Given the description of an element on the screen output the (x, y) to click on. 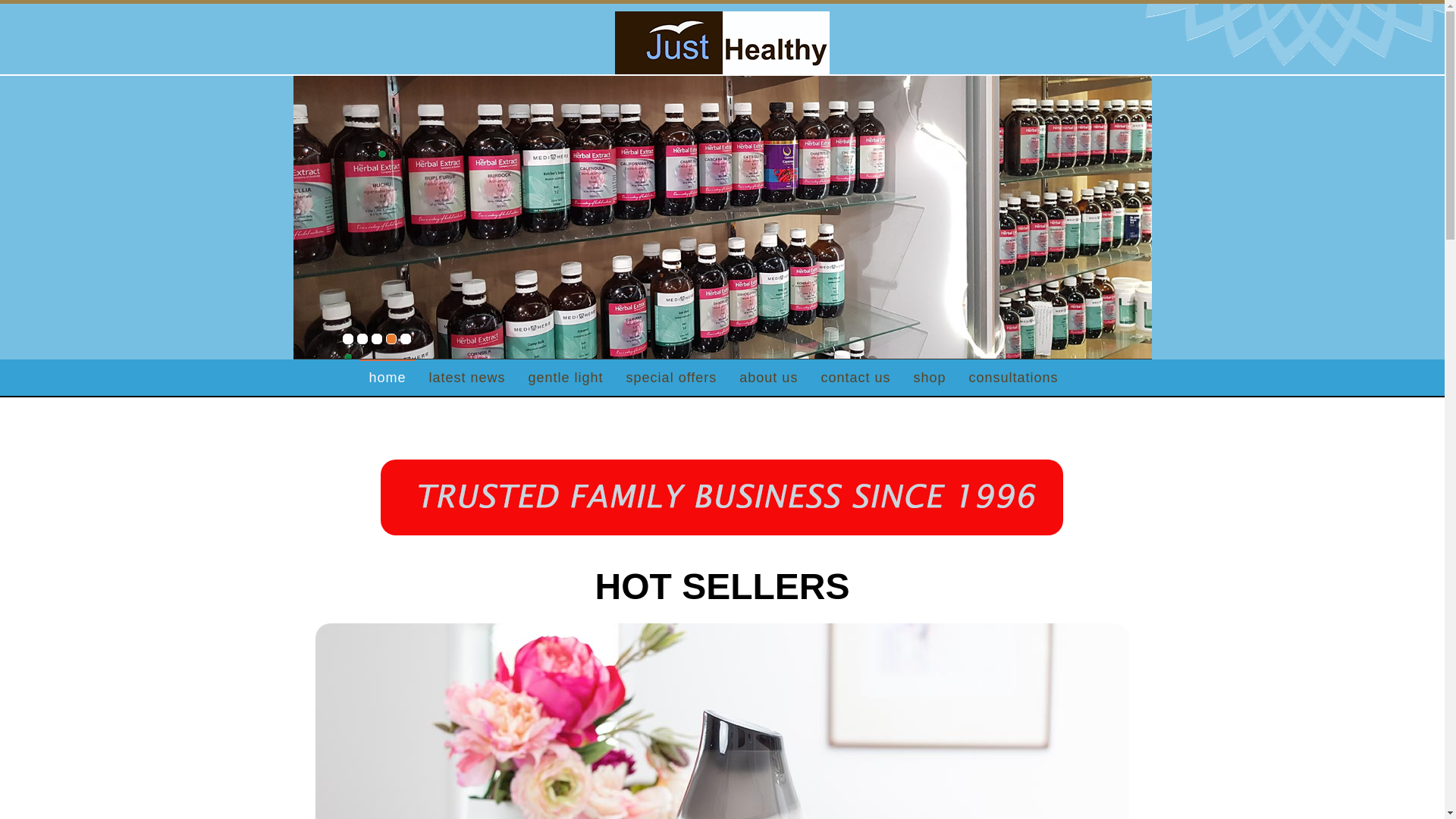
shop Element type: text (929, 377)
special offers Element type: text (671, 377)
latest news Element type: text (466, 377)
gentle light Element type: text (565, 377)
home Element type: text (386, 377)
consultations Element type: text (1012, 377)
contact us Element type: text (855, 377)
about us Element type: text (768, 377)
